Given the description of an element on the screen output the (x, y) to click on. 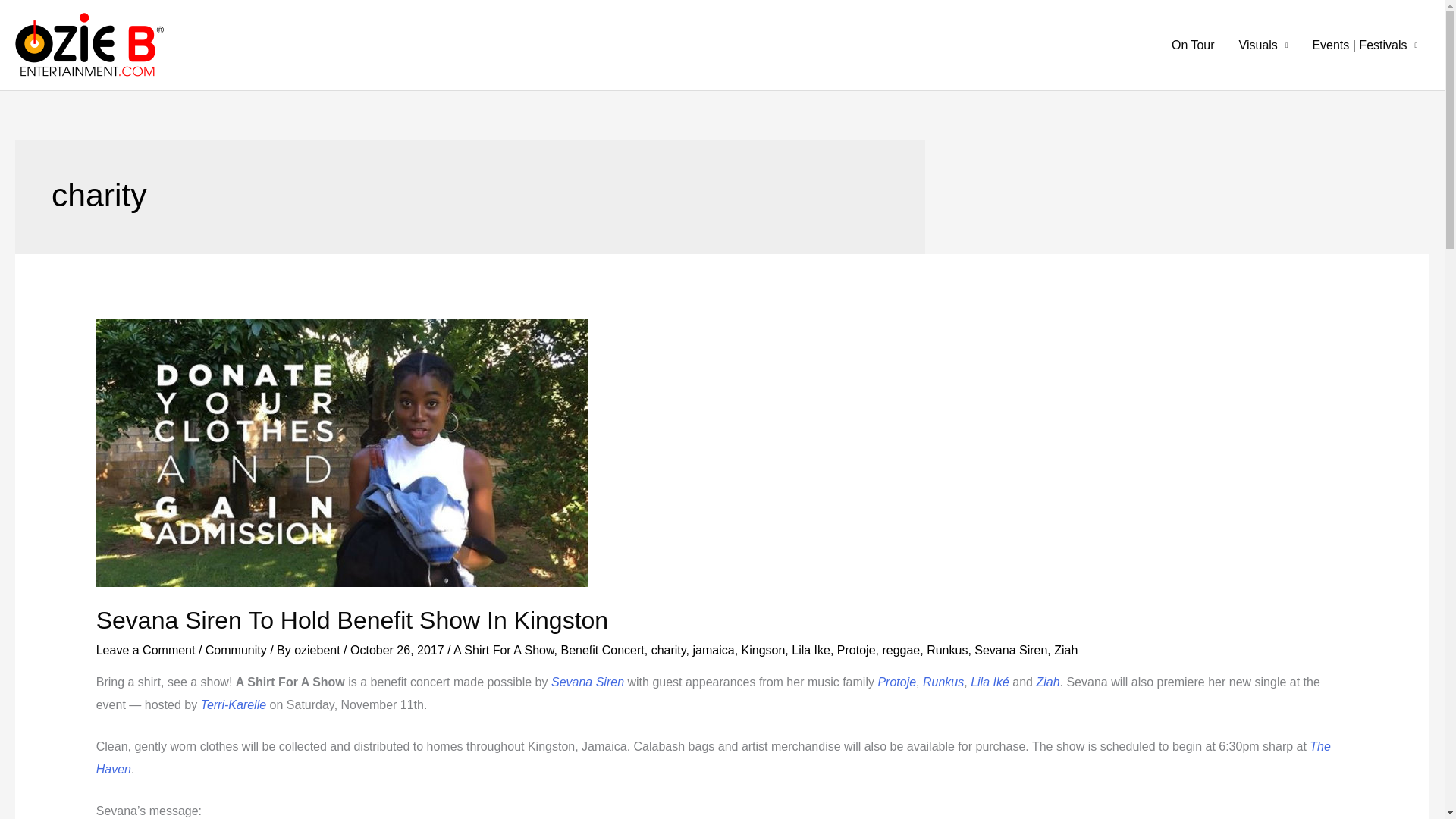
Lila Ike (810, 649)
oziebent (318, 649)
Ziah (1065, 649)
Benefit Concert (602, 649)
charity (667, 649)
Community (235, 649)
Protoje (856, 649)
View all posts by oziebent (318, 649)
The Haven (713, 757)
Sevana Siren To Hold Benefit Show In Kingston (352, 619)
